Given the description of an element on the screen output the (x, y) to click on. 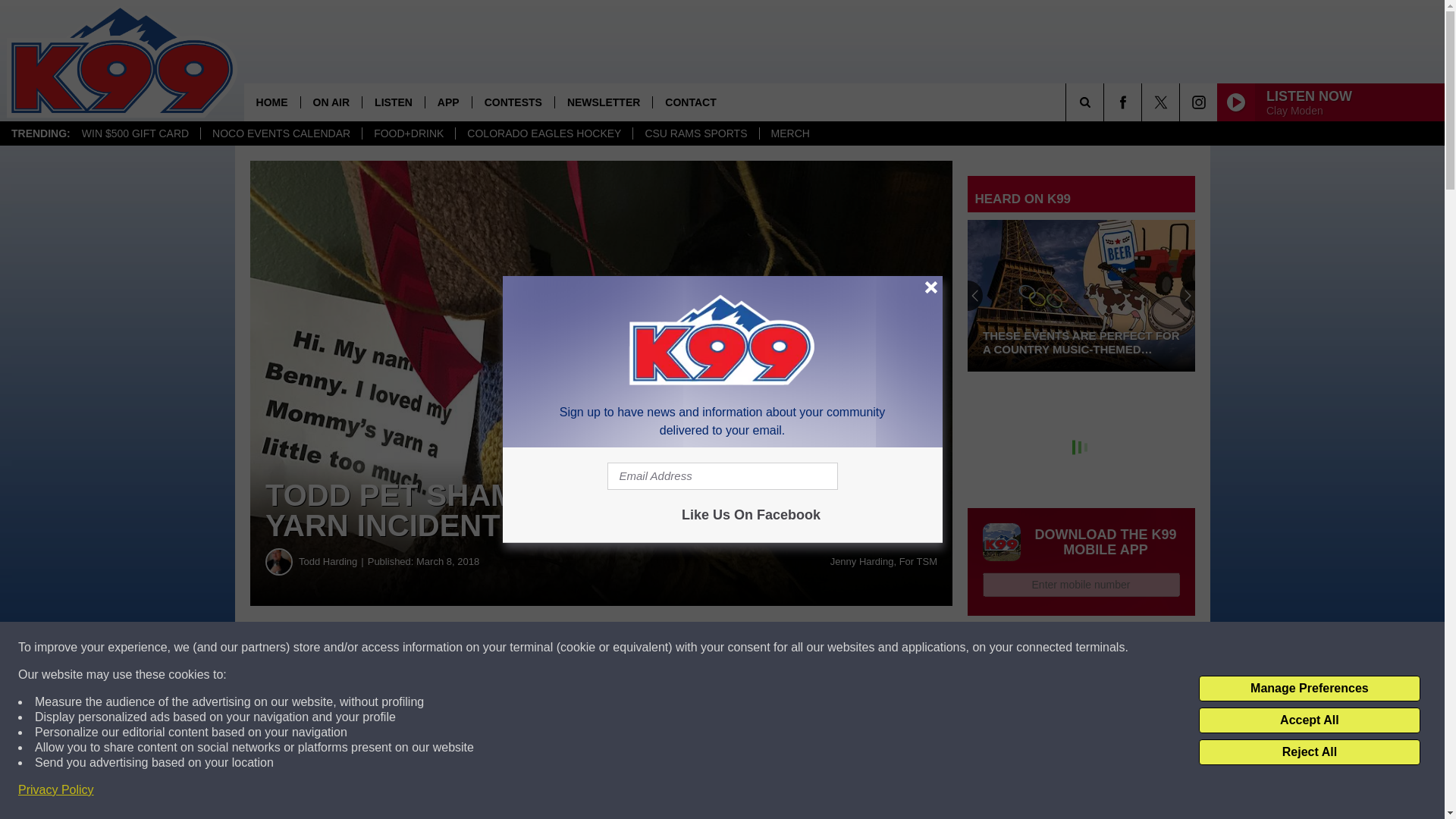
APP (448, 102)
CONTACT (690, 102)
NEWSLETTER (603, 102)
SEARCH (1106, 102)
Reject All (1309, 751)
NOCO EVENTS CALENDAR (280, 133)
CSU RAMS SPORTS (694, 133)
Email Address (722, 475)
CONTESTS (512, 102)
LISTEN (393, 102)
ON AIR (330, 102)
Privacy Policy (55, 789)
SEARCH (1106, 102)
Share on Facebook (460, 647)
COLORADO EAGLES HOCKEY (542, 133)
